Given the description of an element on the screen output the (x, y) to click on. 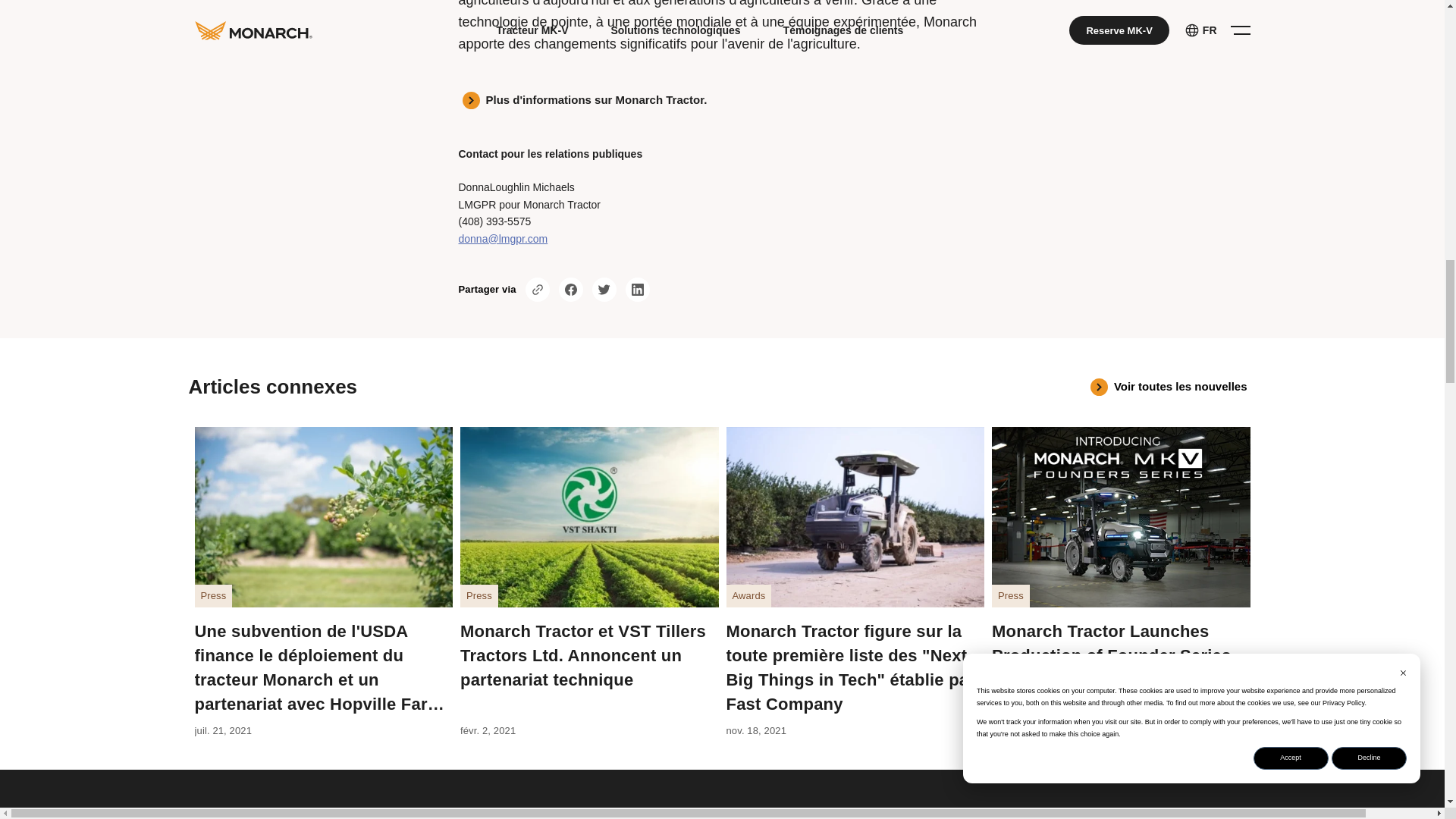
Plus d'informations sur Monarch Tractor. (721, 100)
